Given the description of an element on the screen output the (x, y) to click on. 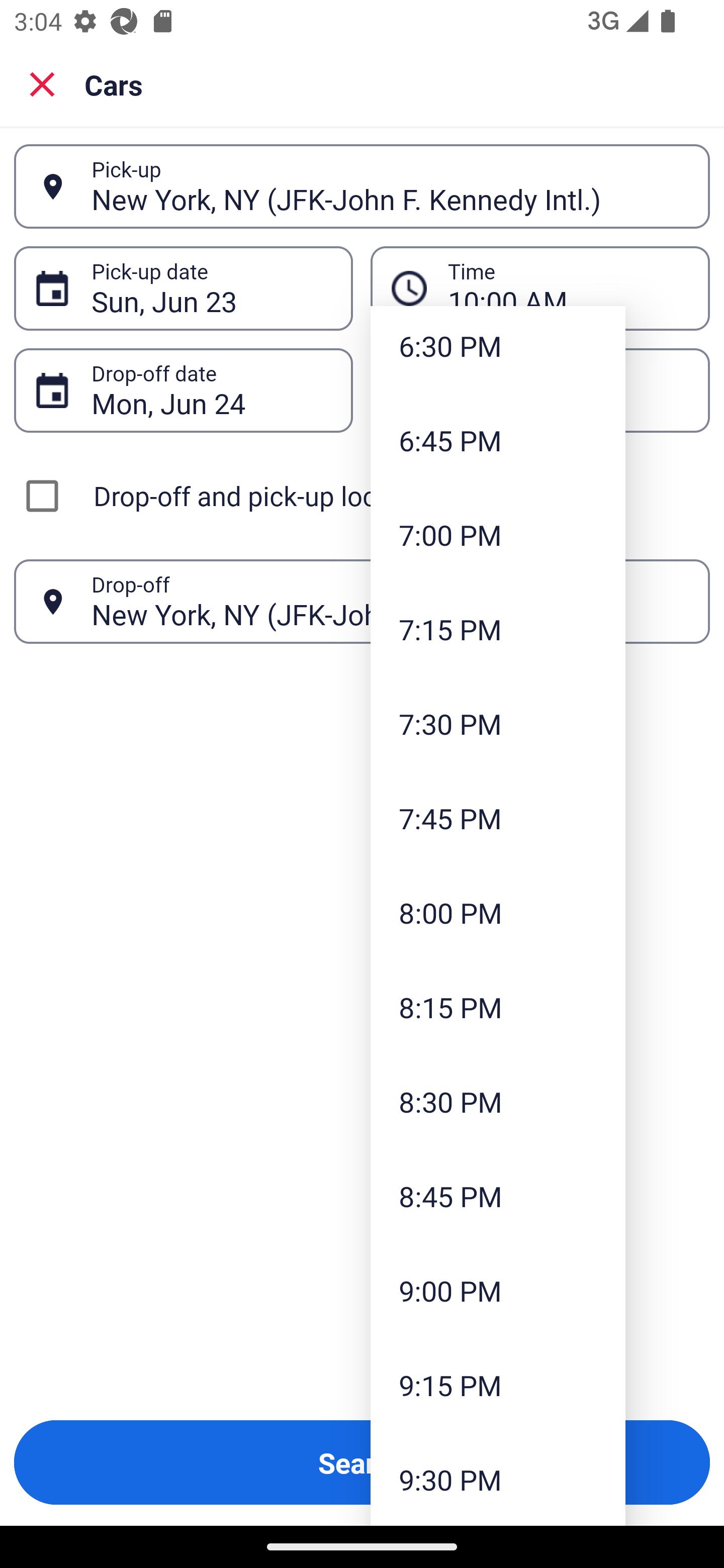
6:30 PM (497, 349)
6:45 PM (497, 440)
7:00 PM (497, 534)
7:15 PM (497, 628)
7:30 PM (497, 723)
7:45 PM (497, 818)
8:00 PM (497, 912)
8:15 PM (497, 1006)
8:30 PM (497, 1101)
8:45 PM (497, 1196)
9:00 PM (497, 1290)
9:15 PM (497, 1384)
9:30 PM (497, 1478)
